Given the description of an element on the screen output the (x, y) to click on. 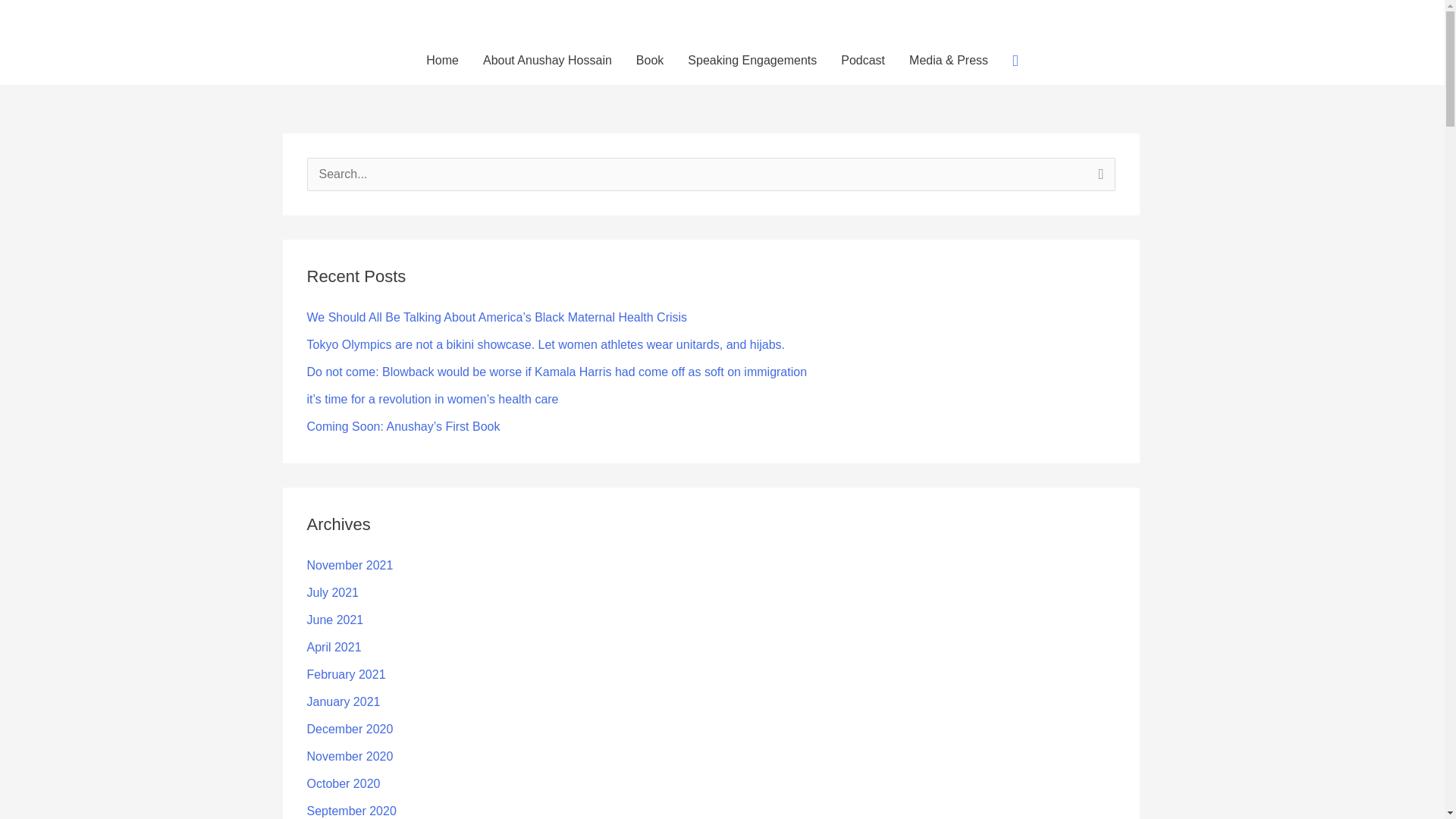
April 2021 (333, 646)
Book (649, 60)
January 2021 (342, 701)
Podcast (862, 60)
December 2020 (349, 728)
Home (441, 60)
February 2021 (345, 674)
October 2020 (342, 783)
June 2021 (333, 619)
November 2020 (349, 756)
July 2021 (331, 592)
Speaking Engagements (751, 60)
About Anushay Hossain (547, 60)
